Given the description of an element on the screen output the (x, y) to click on. 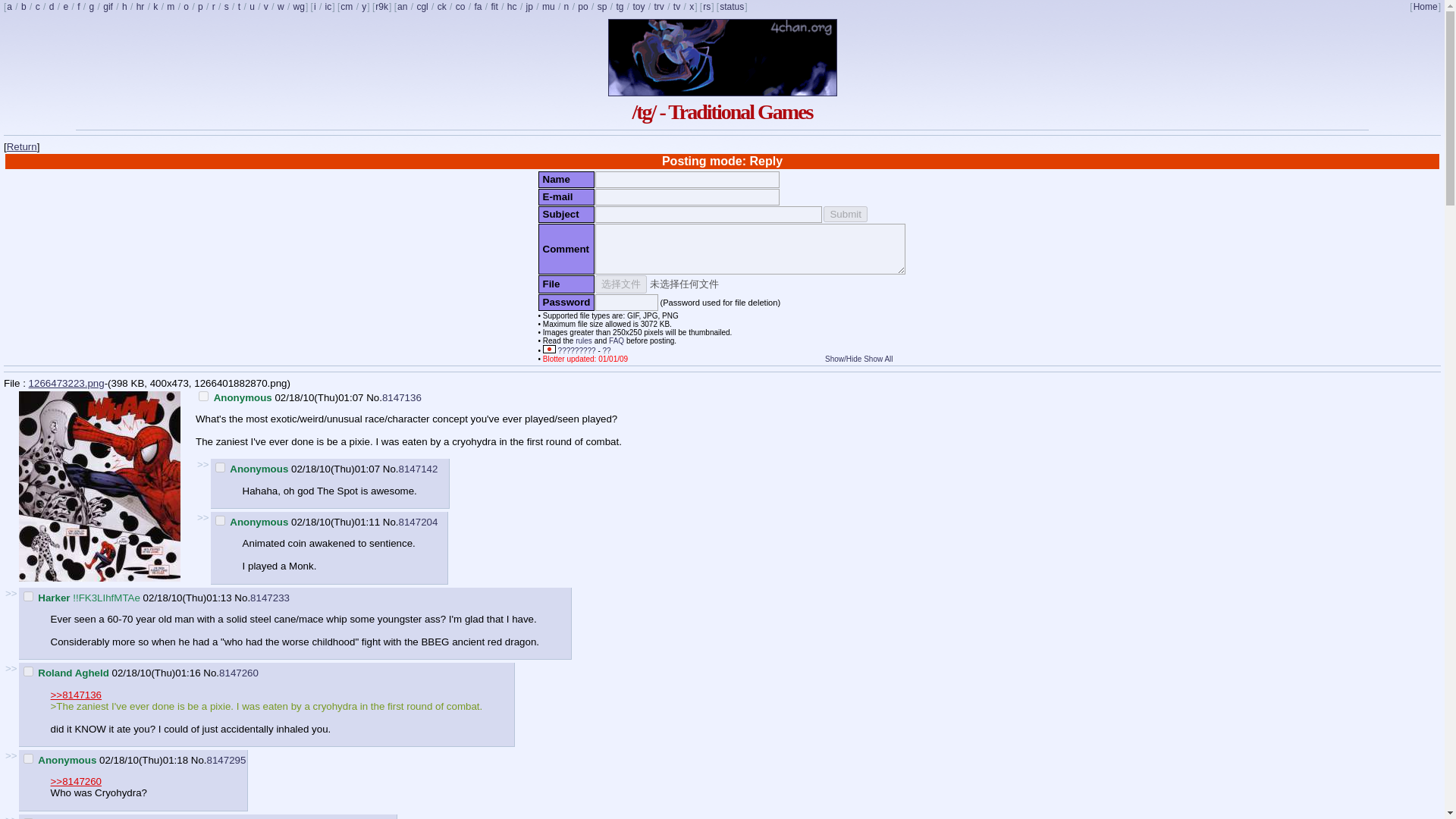
fit (493, 6)
cgl (421, 6)
delete (203, 396)
gif (107, 6)
r (213, 6)
i (315, 6)
sp (602, 6)
Animated GIF (107, 6)
k (155, 6)
Photo (199, 6)
delete (220, 467)
o (186, 6)
e (65, 6)
ic (328, 6)
cm (346, 6)
